Given the description of an element on the screen output the (x, y) to click on. 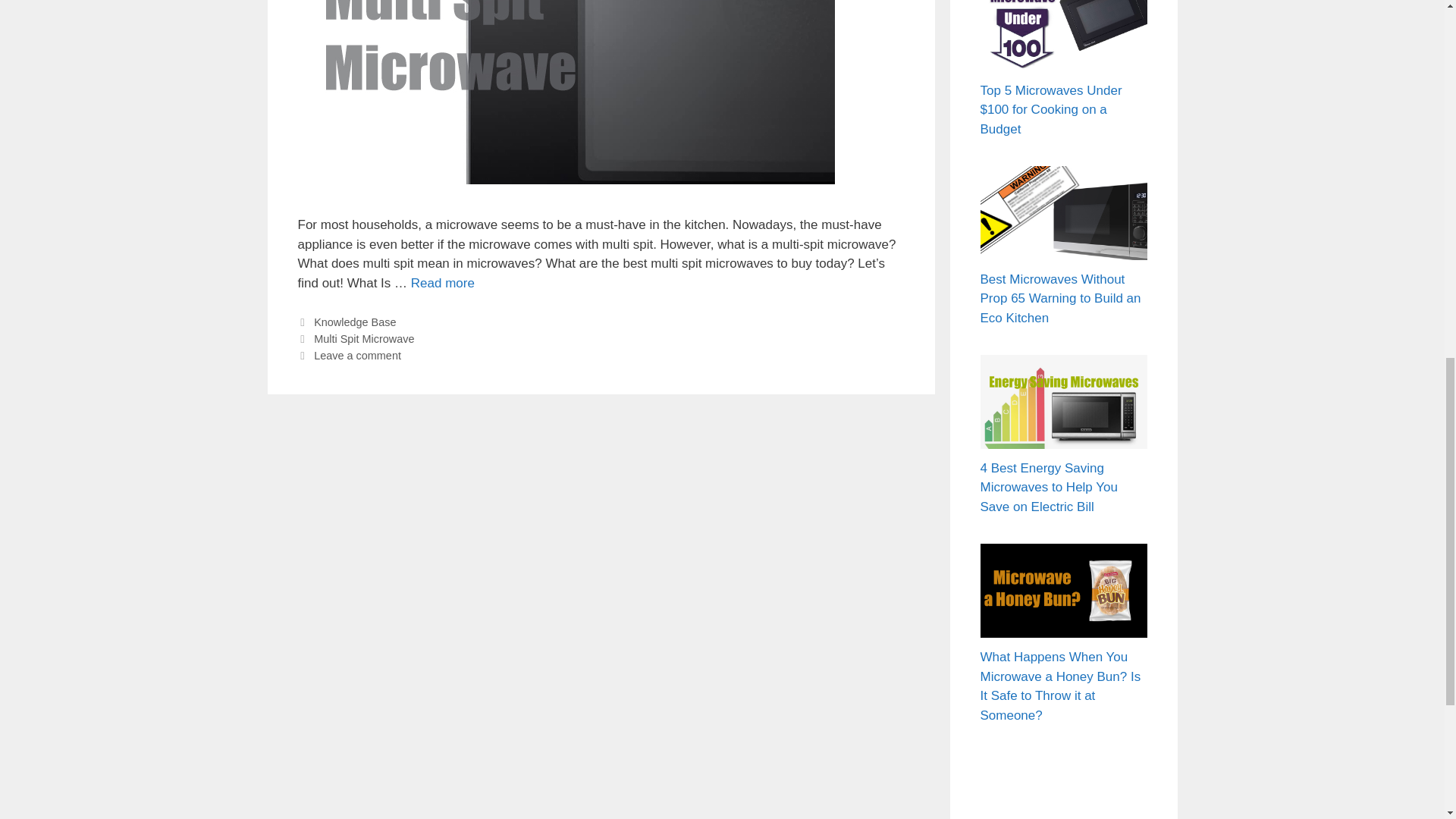
Multi Spit Microwave (363, 338)
Knowledge Base (355, 322)
Leave a comment (357, 355)
